Given the description of an element on the screen output the (x, y) to click on. 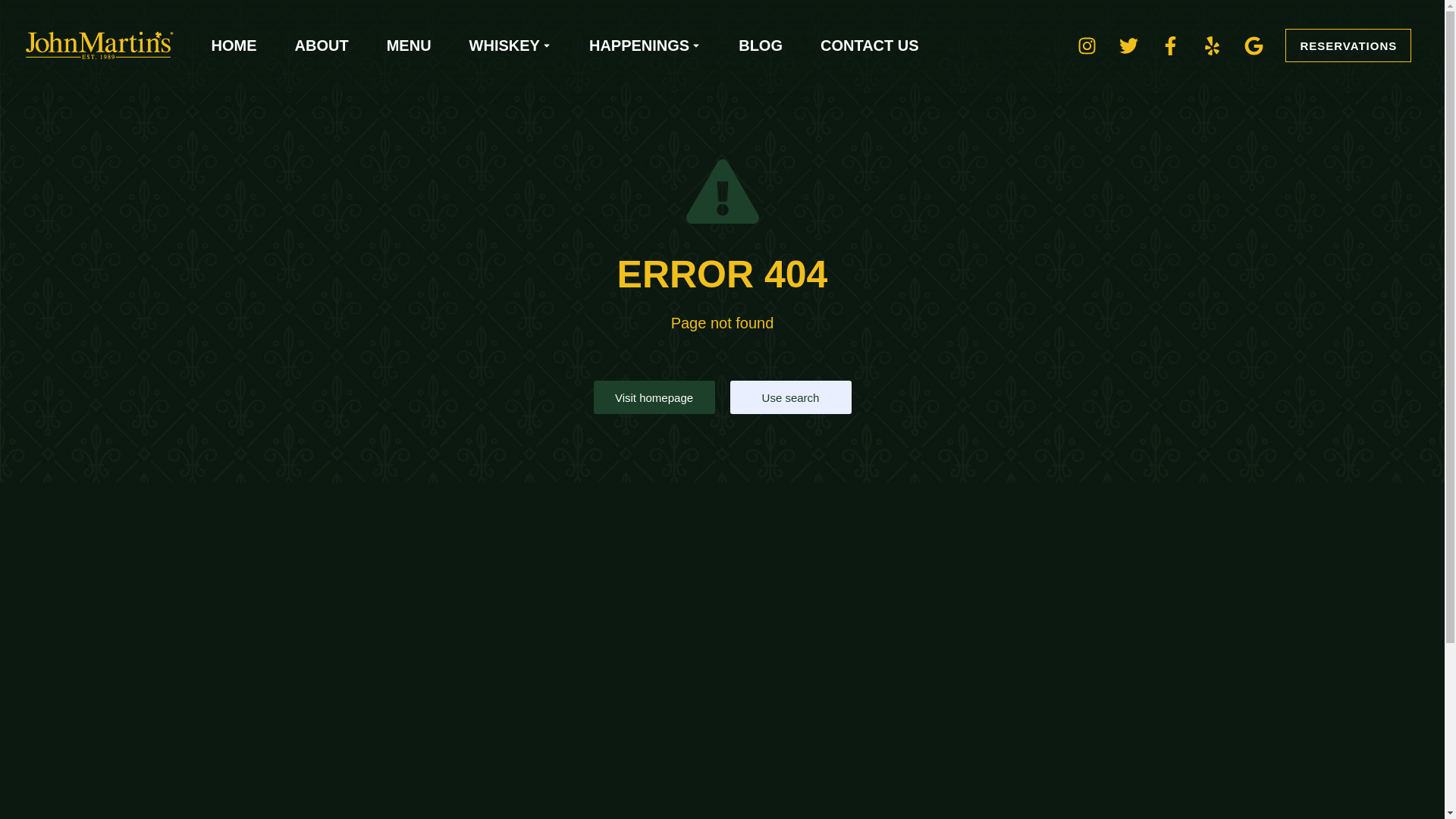
Use search (789, 397)
MENU (408, 45)
HAPPENINGS (644, 45)
CONTACT US (869, 45)
ABOUT (322, 45)
Visit homepage (653, 397)
RESERVATIONS (1347, 45)
HOME (234, 45)
BLOG (760, 45)
WHISKEY (509, 45)
